Given the description of an element on the screen output the (x, y) to click on. 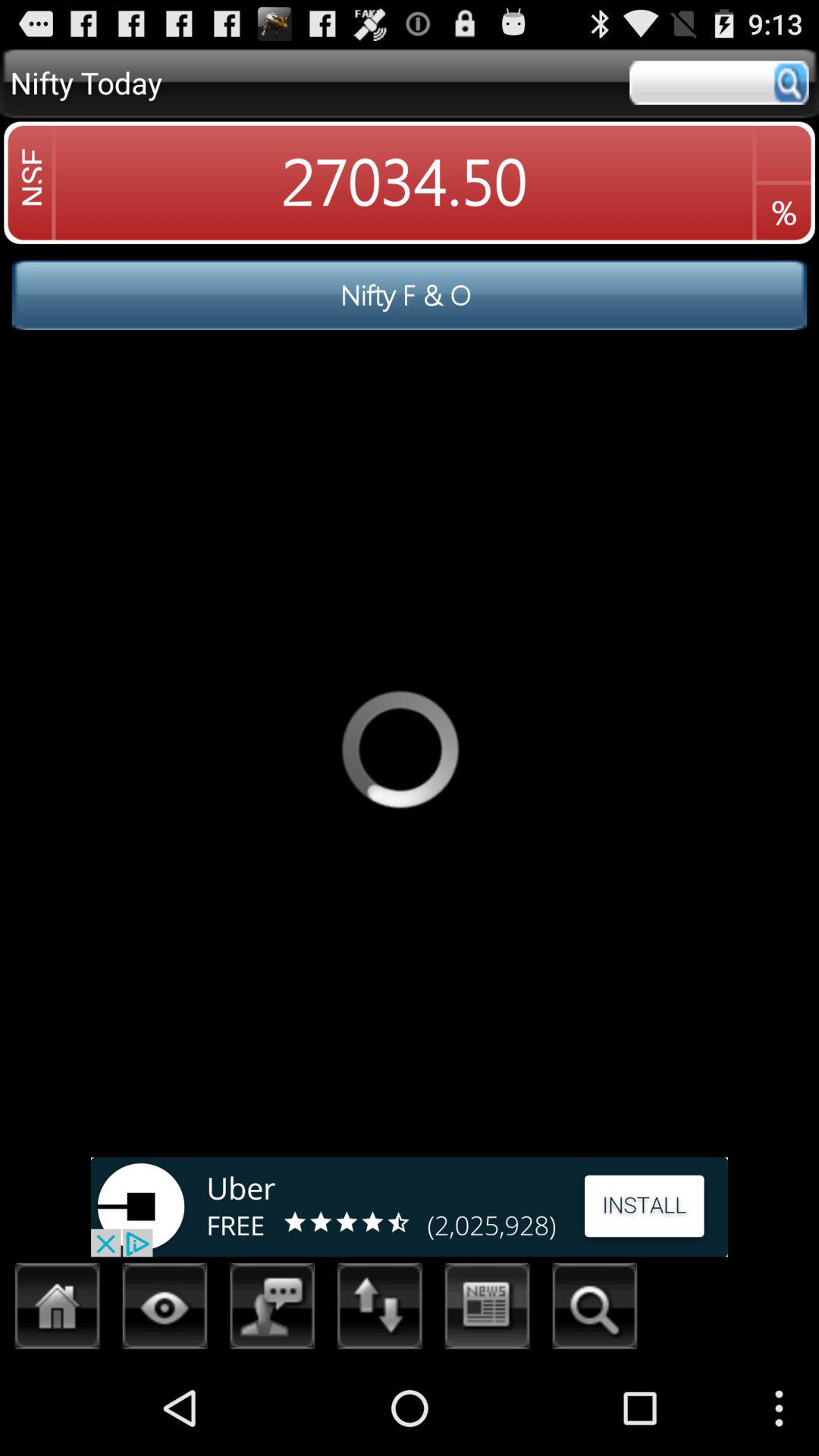
search option (594, 1310)
